Given the description of an element on the screen output the (x, y) to click on. 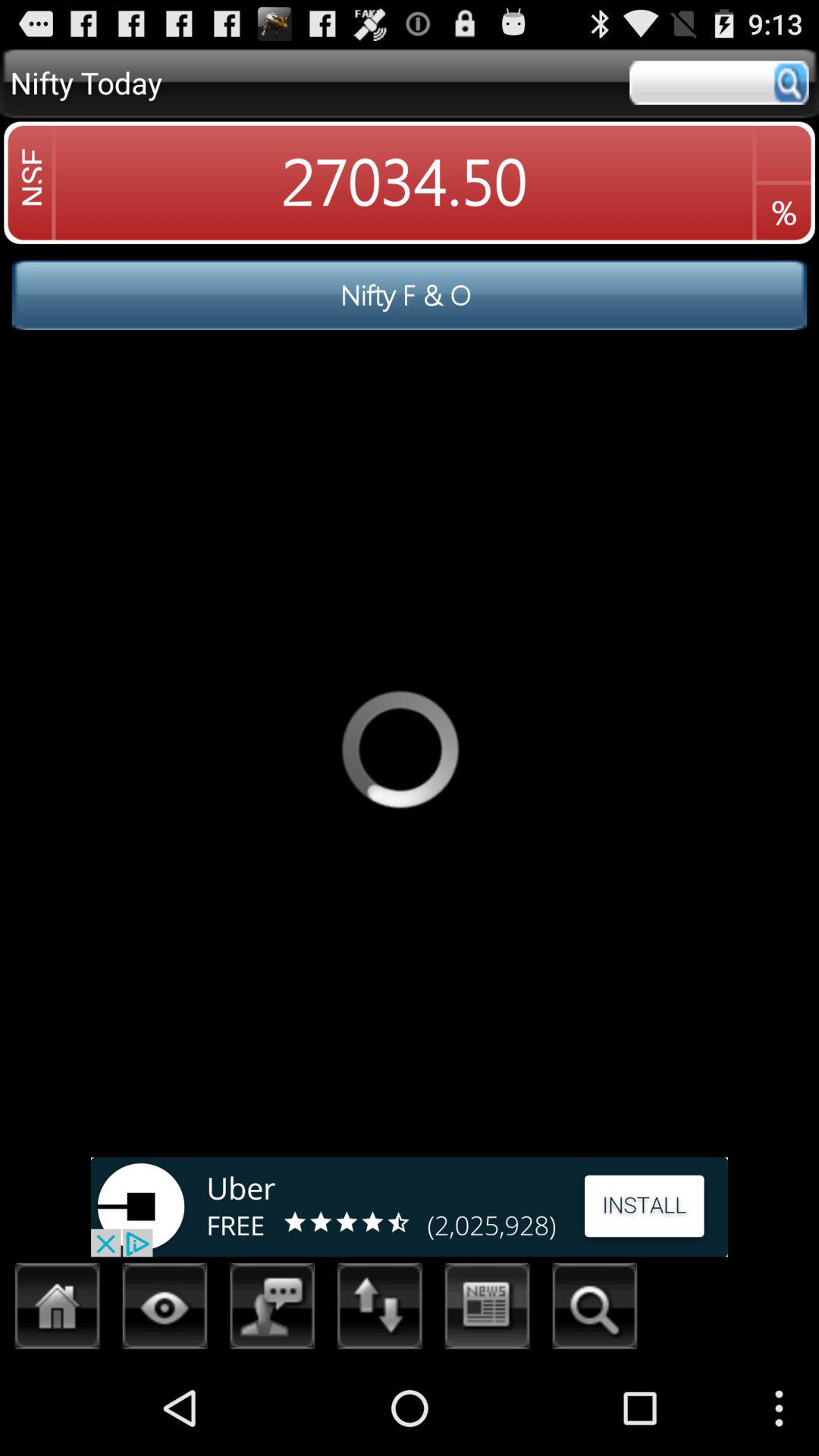
search option (594, 1310)
